Given the description of an element on the screen output the (x, y) to click on. 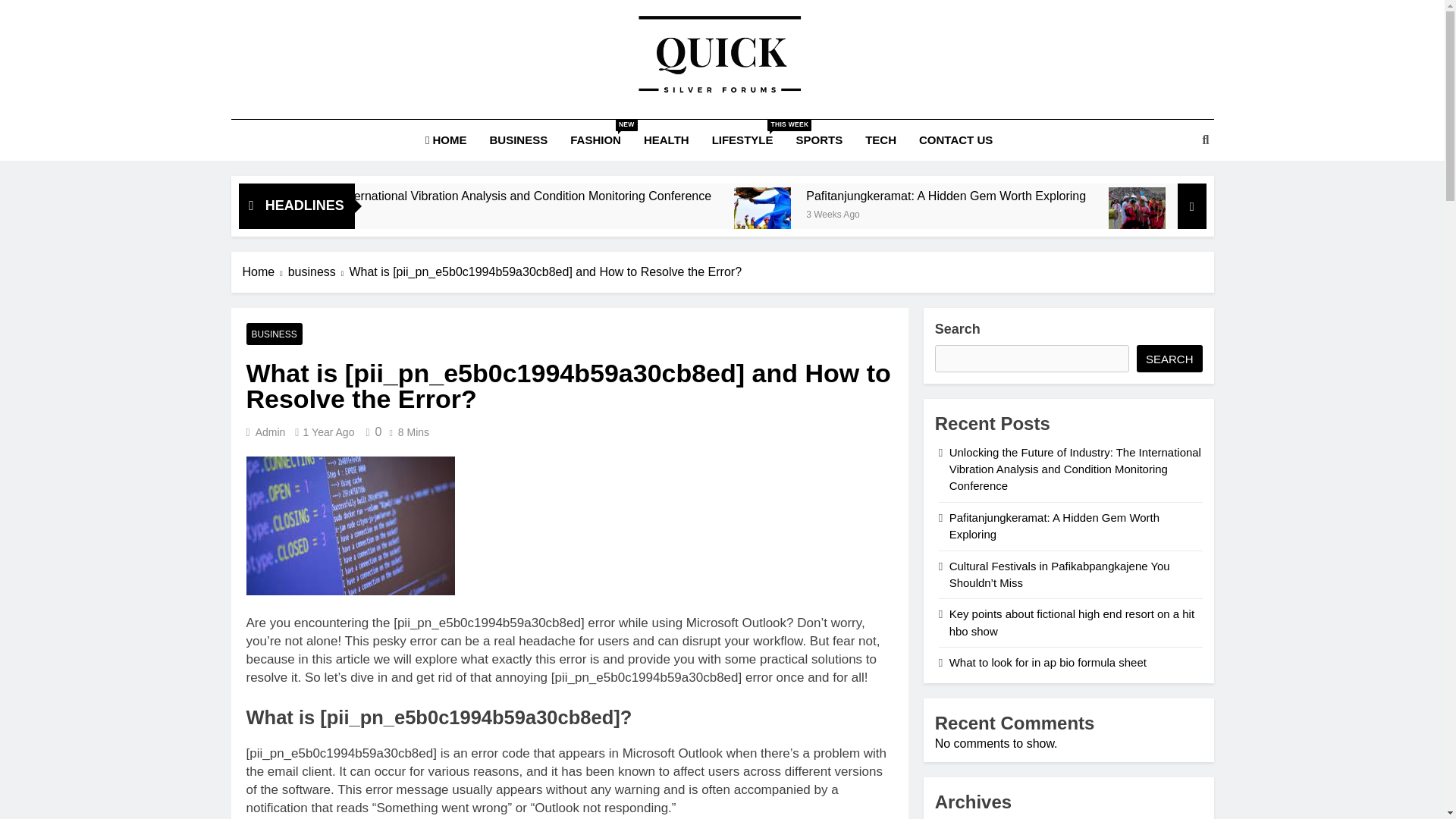
SPORTS (818, 139)
Pafitanjungkeramat: A Hidden Gem Worth Exploring (1119, 195)
Quick Silver Forums (633, 130)
HOME (446, 139)
3 Days Ago (435, 212)
TECH (742, 139)
BUSINESS (880, 139)
